Given the description of an element on the screen output the (x, y) to click on. 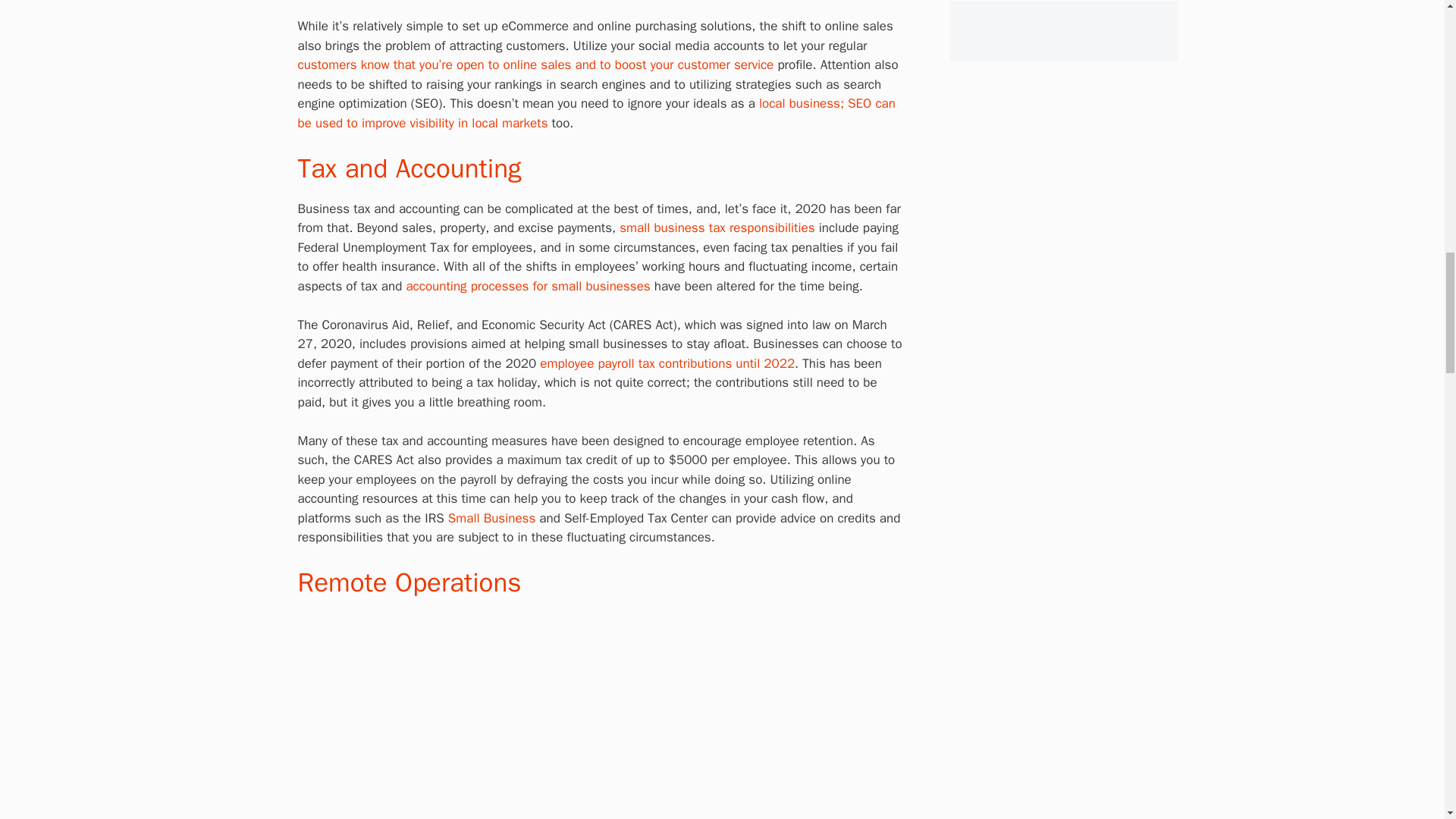
accounting processes for small businesses (527, 286)
Small Business (491, 518)
small business tax responsibilities (716, 227)
employee payroll tax contributions until 2022 (667, 363)
